Given the description of an element on the screen output the (x, y) to click on. 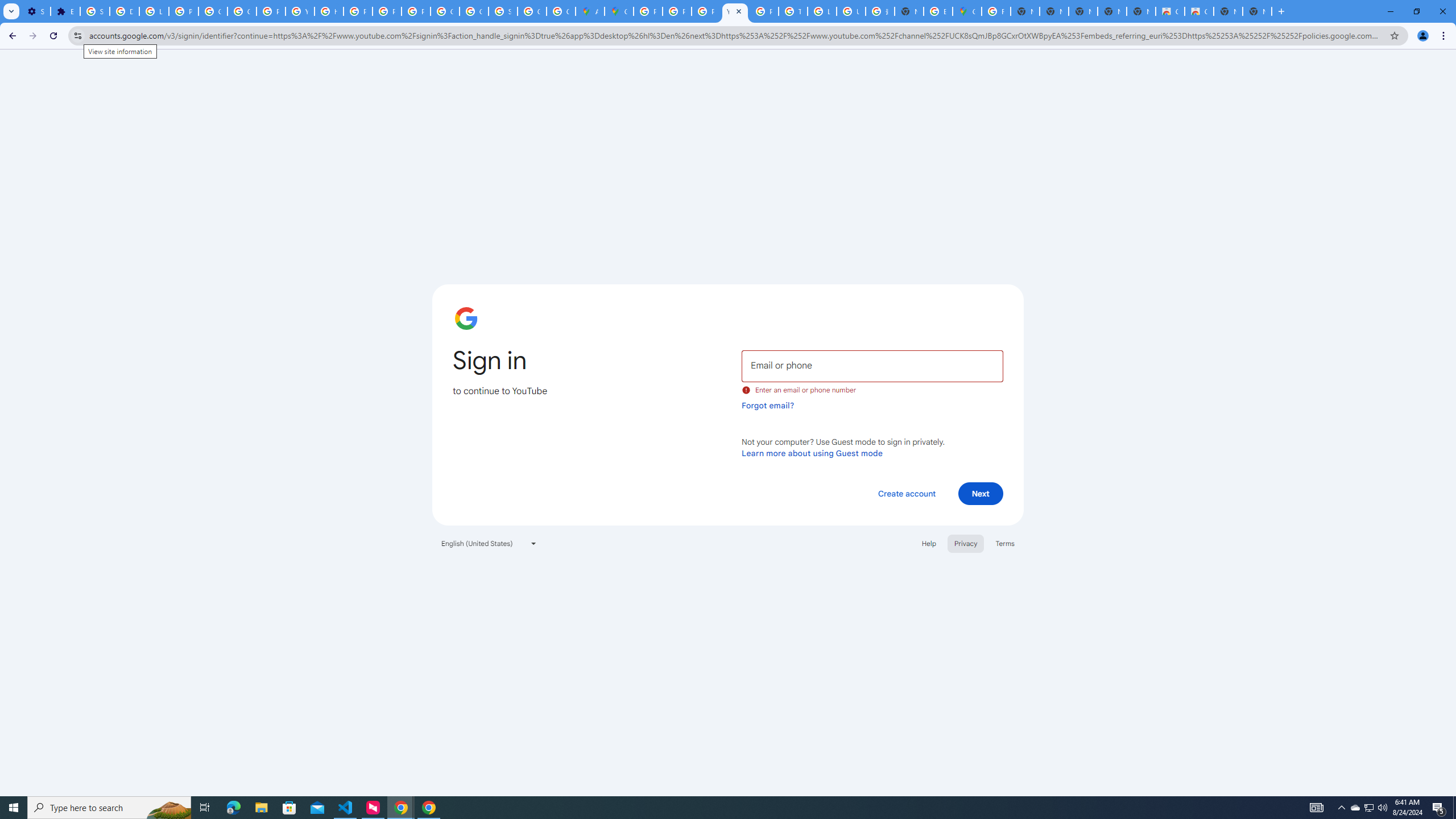
Create account (905, 493)
Policy Accountability and Transparency - Transparency Center (648, 11)
New Tab (1256, 11)
Create your Google Account (560, 11)
